Given the description of an element on the screen output the (x, y) to click on. 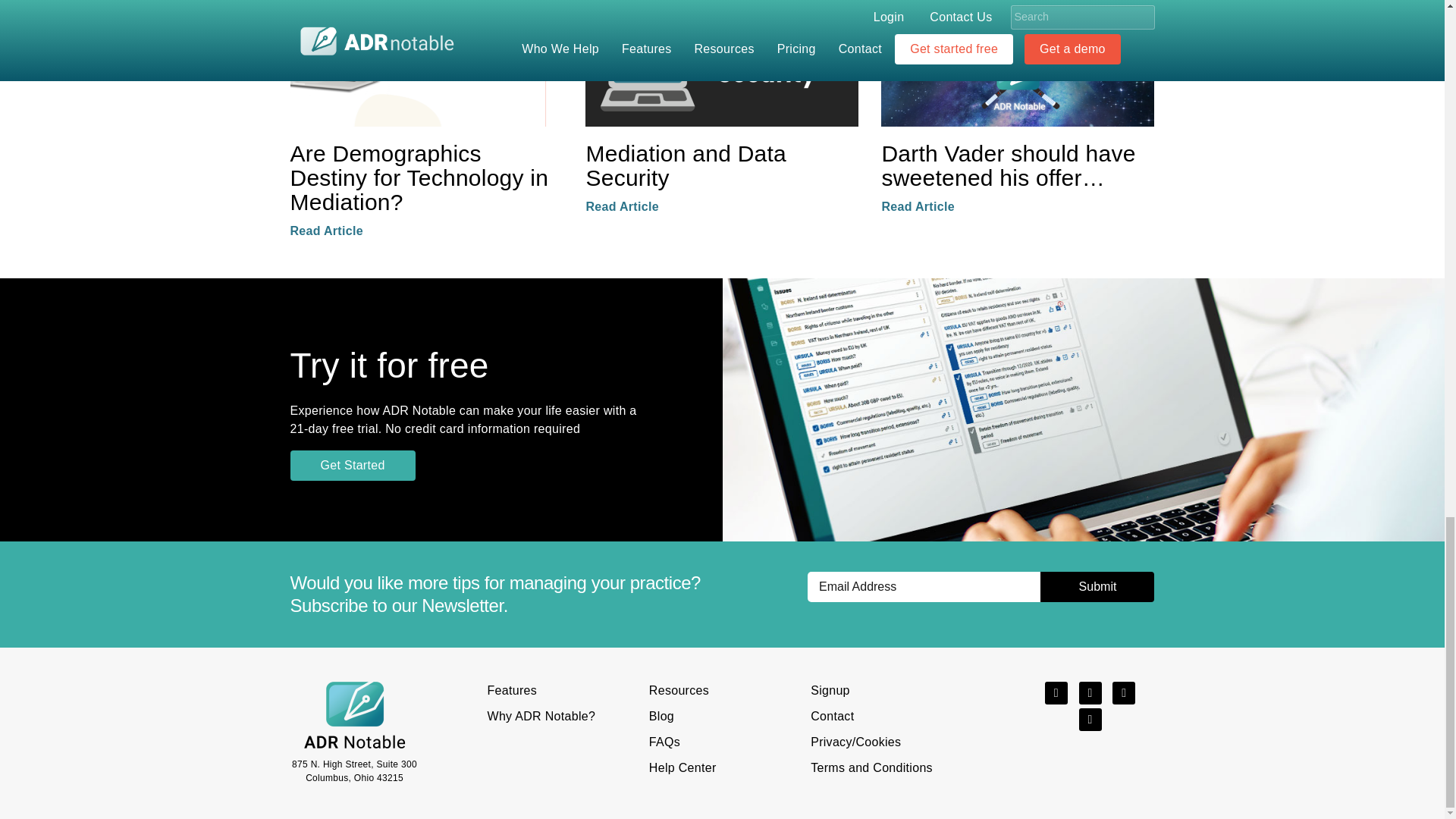
Submit (1097, 586)
